Given the description of an element on the screen output the (x, y) to click on. 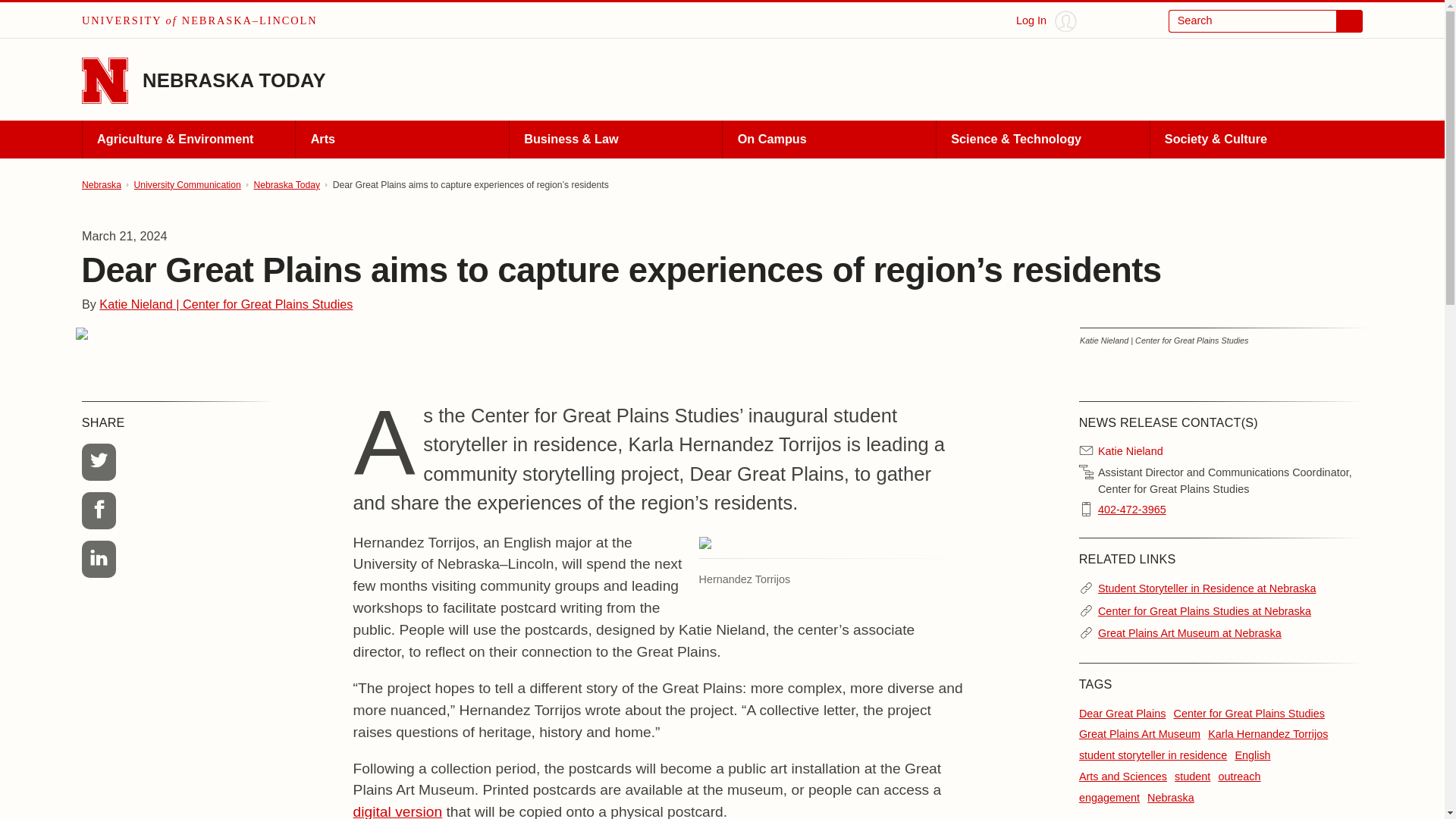
student (1191, 776)
Arts and Sciences (1122, 776)
Dear Great Plains (1122, 713)
engagement (1109, 797)
Karla Hernandez Torrijos (1267, 734)
University Communication (187, 184)
Nebraska (100, 184)
English (1251, 755)
Katie Nieland (1130, 451)
Log In (1046, 21)
